Given the description of an element on the screen output the (x, y) to click on. 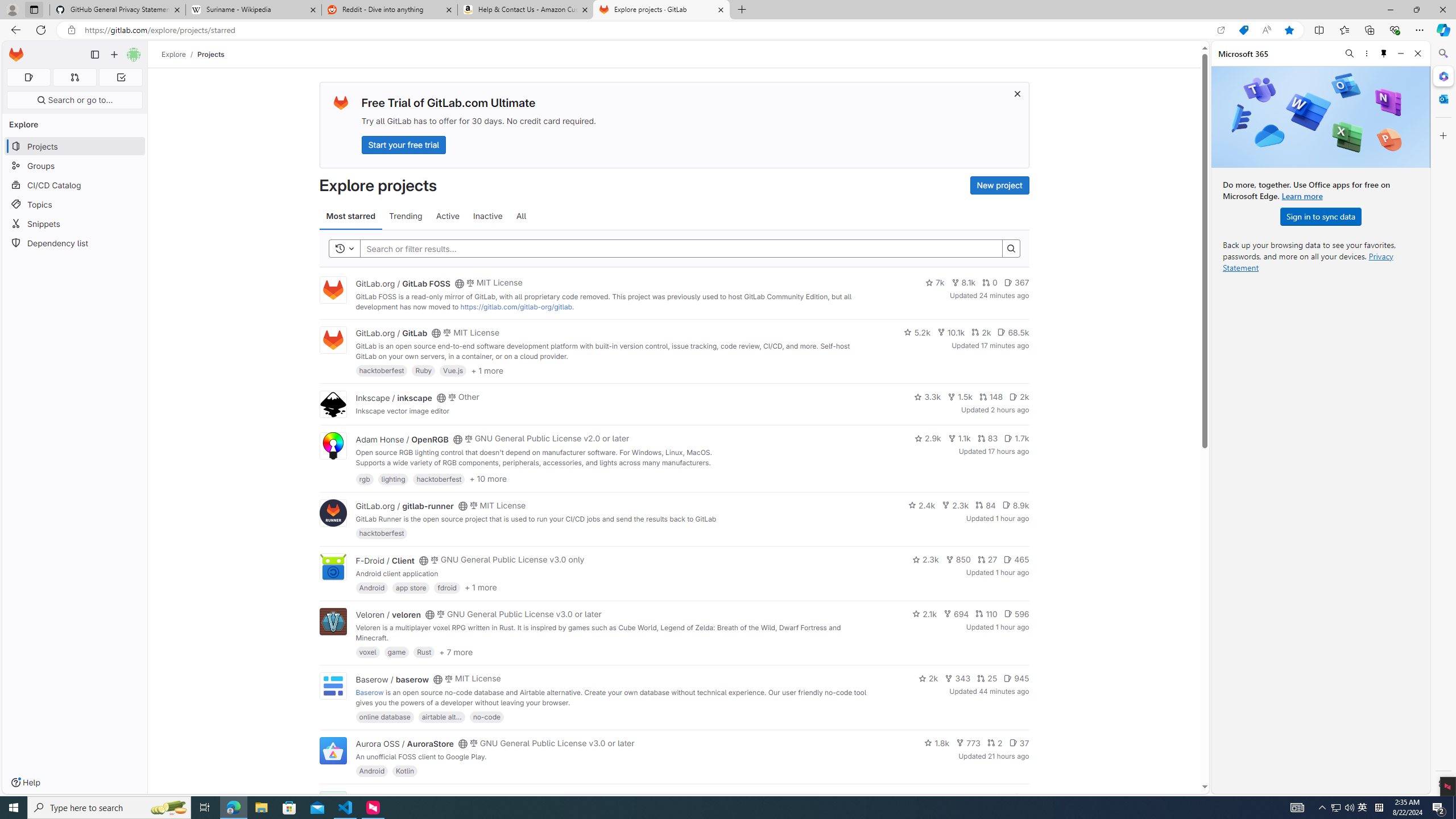
148 (990, 396)
1.1k (959, 438)
voxel (367, 651)
game (396, 651)
airtable alt... (441, 715)
Toggle history (344, 248)
83 (987, 438)
Trending (405, 216)
6 (1021, 797)
Android (371, 770)
All (520, 216)
